Given the description of an element on the screen output the (x, y) to click on. 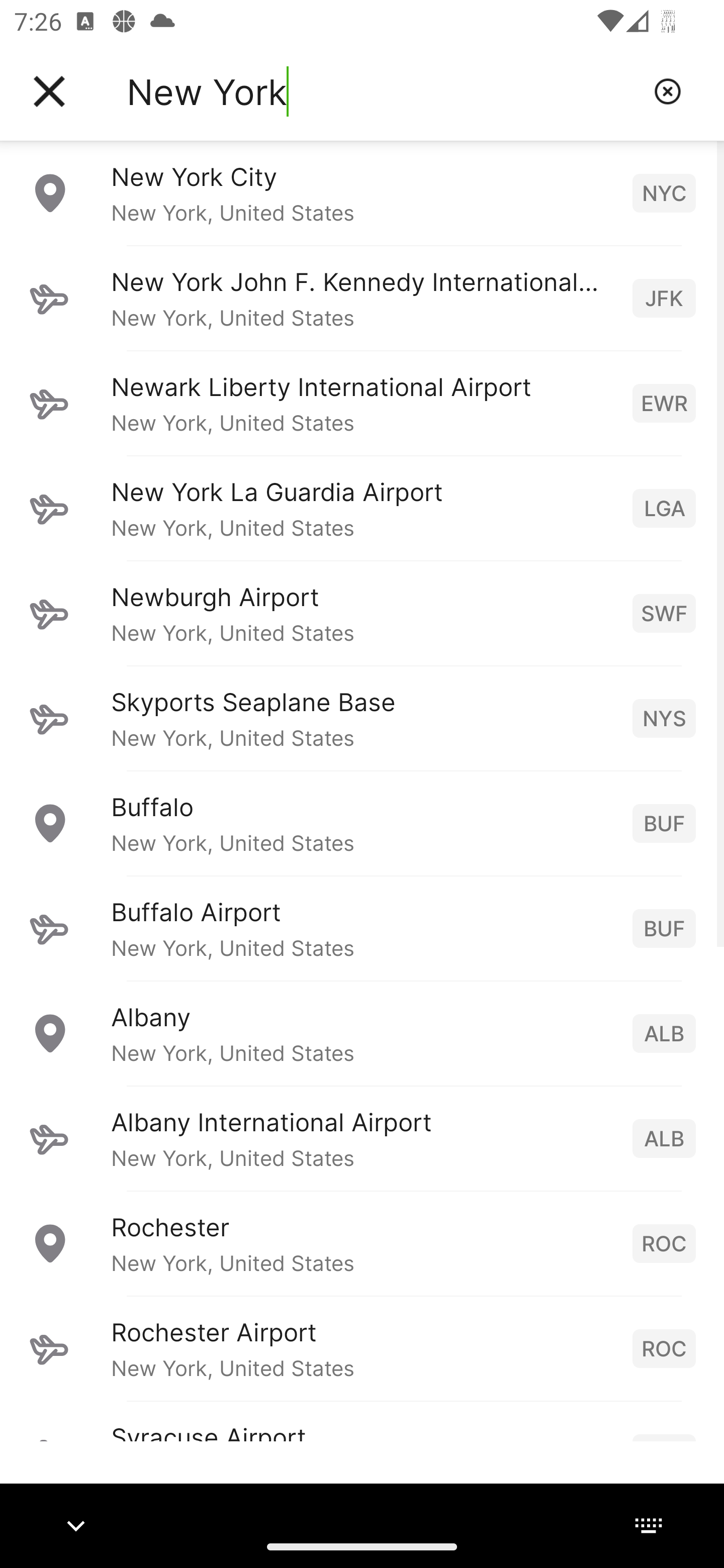
New York (382, 91)
New York City New York, United States NYC (362, 192)
Newburgh Airport New York, United States SWF (362, 612)
Skyports Seaplane Base New York, United States NYS (362, 717)
Buffalo New York, United States BUF (362, 822)
Buffalo Airport New York, United States BUF (362, 928)
Albany New York, United States ALB (362, 1033)
Rochester New York, United States ROC (362, 1243)
Rochester Airport New York, United States ROC (362, 1348)
